Given the description of an element on the screen output the (x, y) to click on. 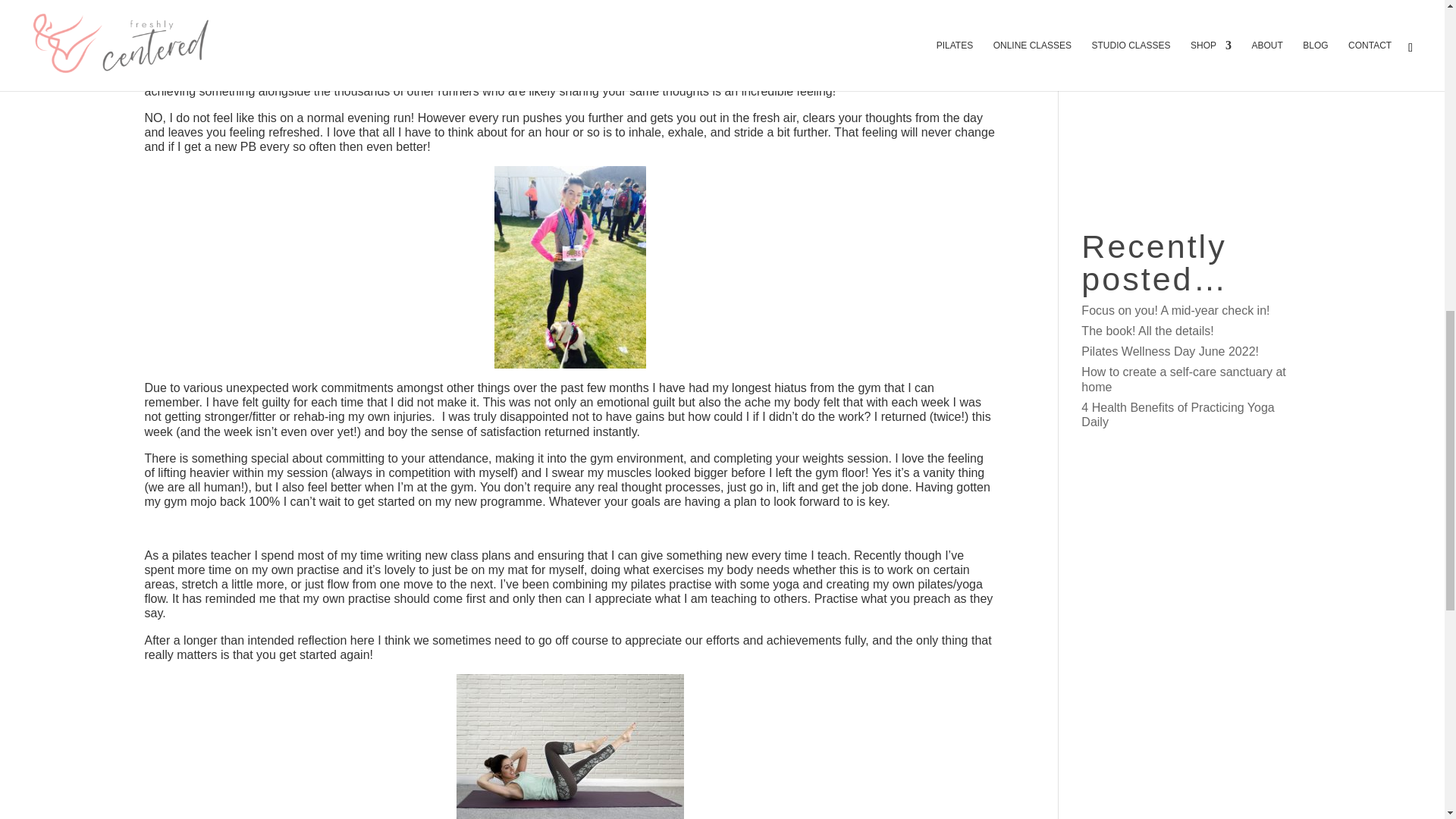
The book! All the details! (1146, 330)
4 Health Benefits of Practicing Yoga Daily (1177, 414)
Advertisement (1190, 104)
How to create a self-care sanctuary at home (1183, 379)
Focus on you! A mid-year check in! (1175, 309)
Pilates Wellness Day June 2022! (1170, 350)
